Given the description of an element on the screen output the (x, y) to click on. 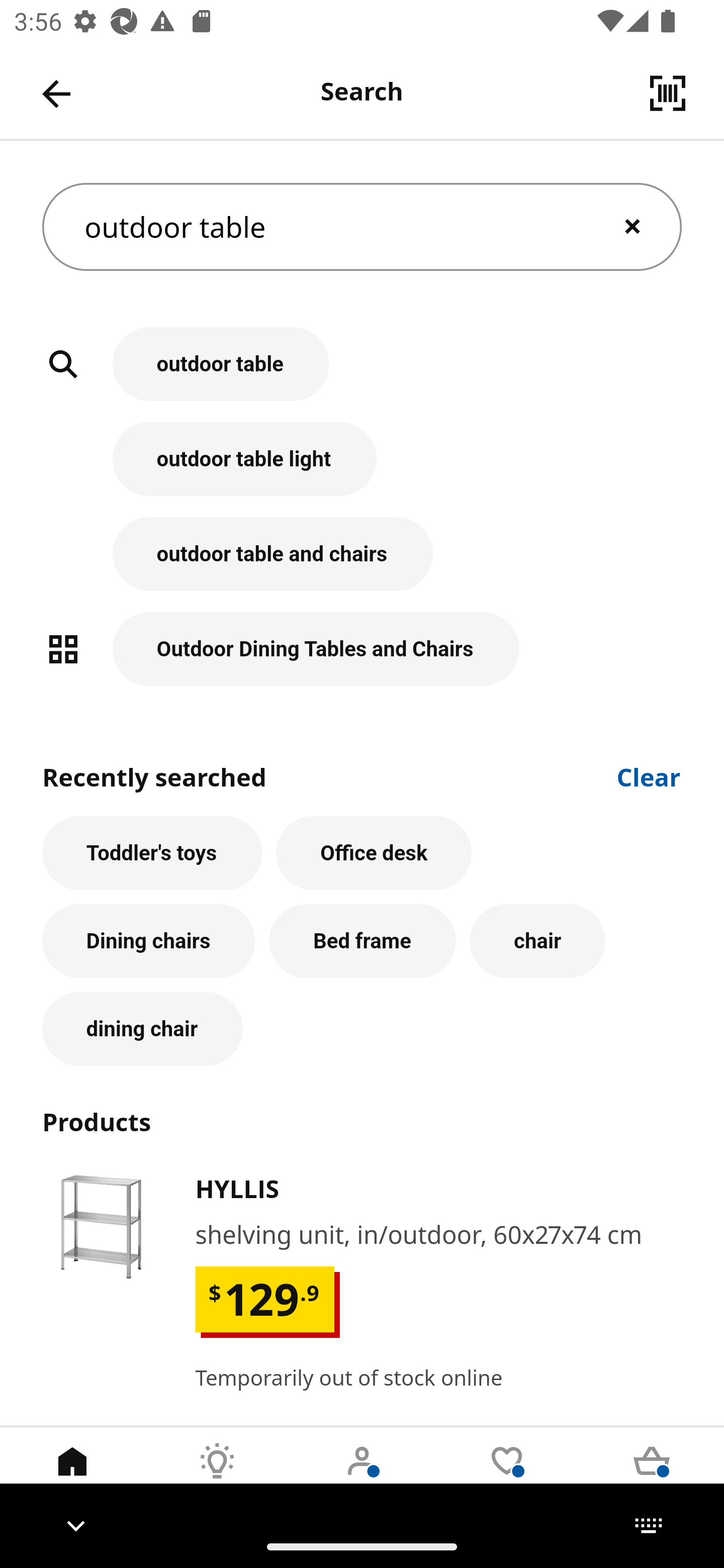
outdoor table (361, 227)
outdoor table (361, 374)
outdoor table light (361, 469)
outdoor table and chairs (361, 564)
Outdoor Dining Tables and Chairs (361, 648)
Clear (649, 774)
Toddler's toys (151, 853)
Office desk (373, 853)
Dining chairs (148, 941)
Bed frame (362, 941)
chair (537, 941)
dining chair (141, 1029)
Home
Tab 1 of 5 (72, 1476)
Inspirations
Tab 2 of 5 (216, 1476)
User
Tab 3 of 5 (361, 1476)
Wishlist
Tab 4 of 5 (506, 1476)
Cart
Tab 5 of 5 (651, 1476)
